Given the description of an element on the screen output the (x, y) to click on. 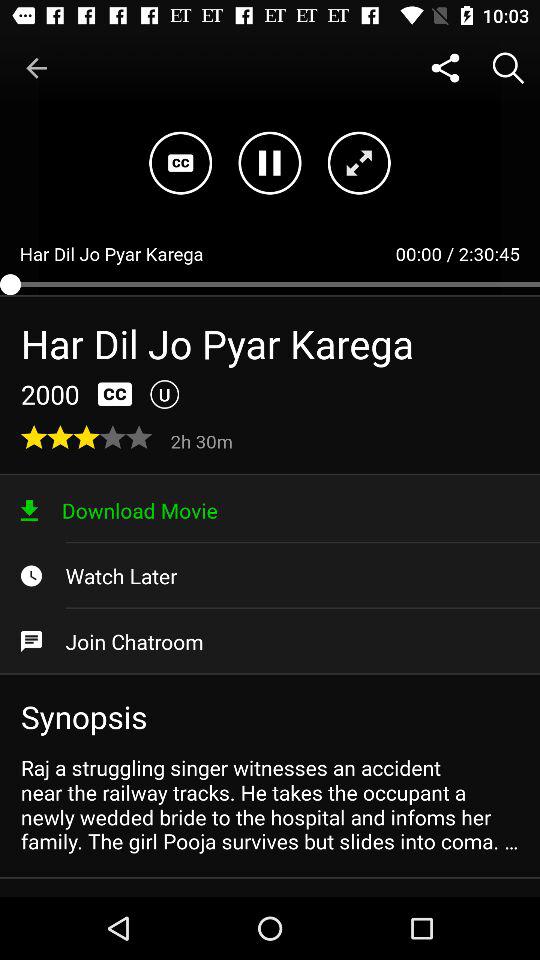
launch item above the 00:00 /  icon (444, 67)
